Given the description of an element on the screen output the (x, y) to click on. 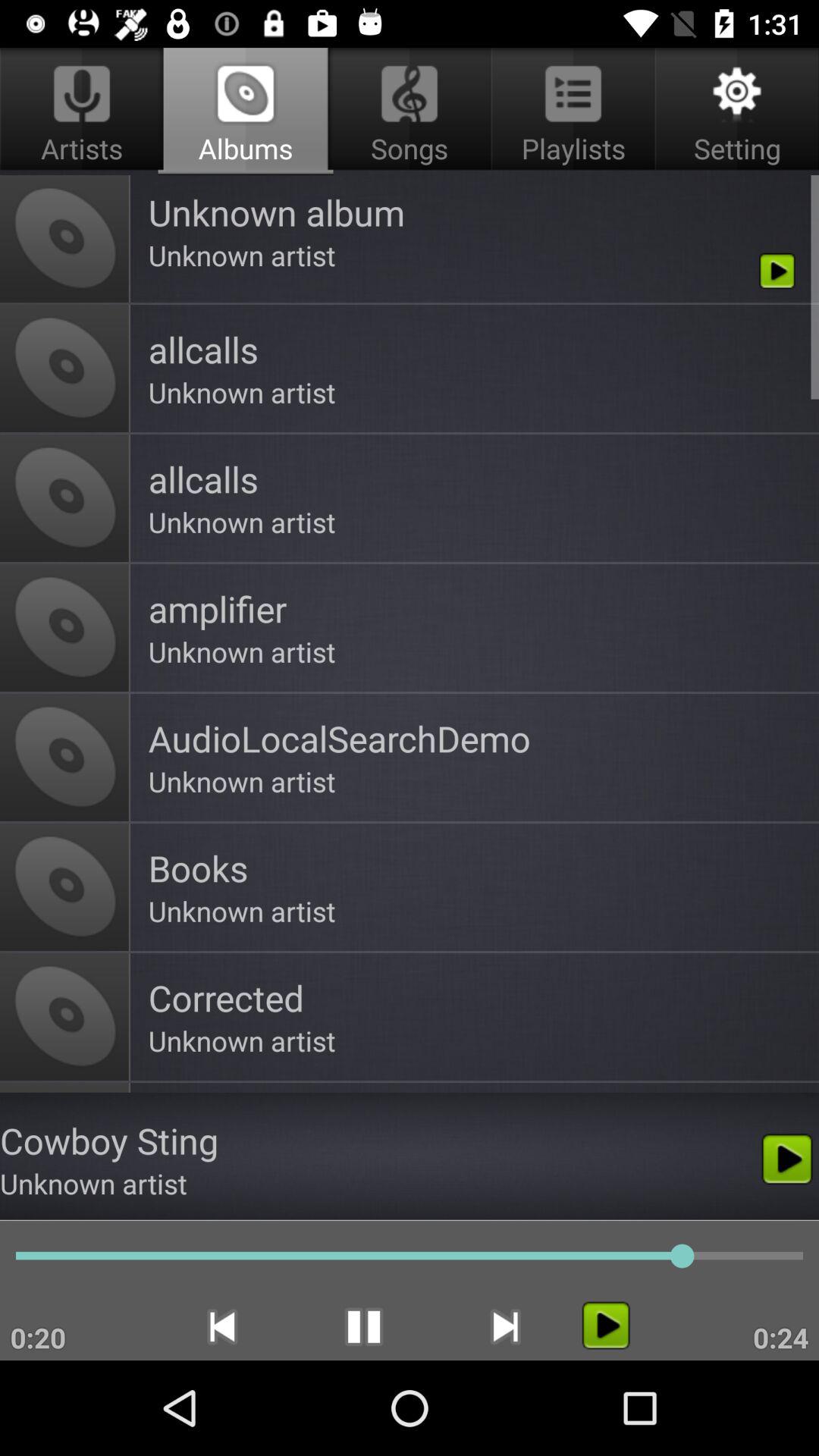
open songs (409, 111)
